Given the description of an element on the screen output the (x, y) to click on. 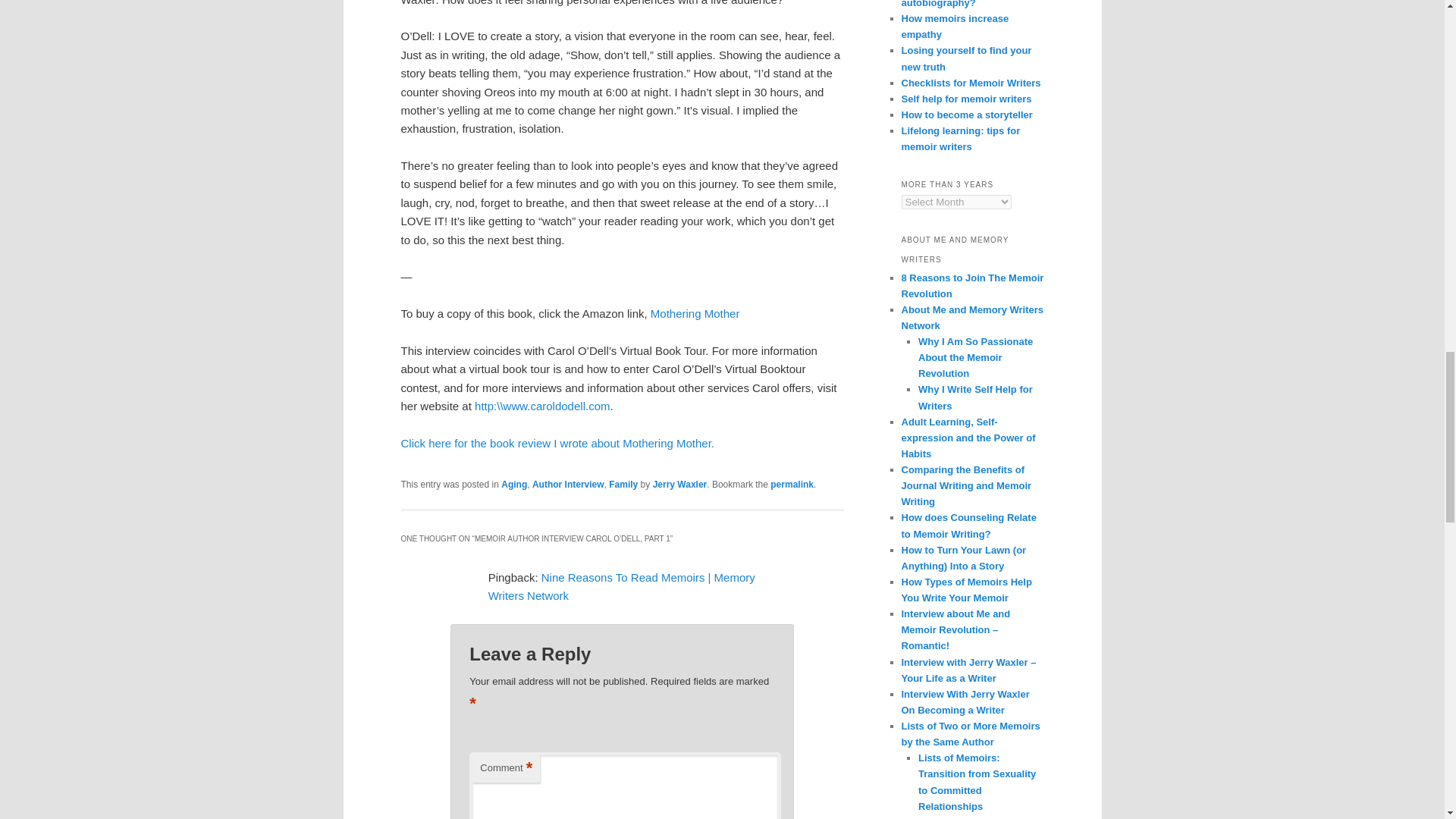
Jerry Waxler (679, 484)
Family (622, 484)
Book Review Mothering Mother by Carol O'Dell (557, 442)
Mothering Mother (694, 313)
Mothering Mother, memoir by Carol O'Dell (694, 313)
Author Interview (568, 484)
Aging (513, 484)
Carol O'Dell's home page (542, 405)
